Given the description of an element on the screen output the (x, y) to click on. 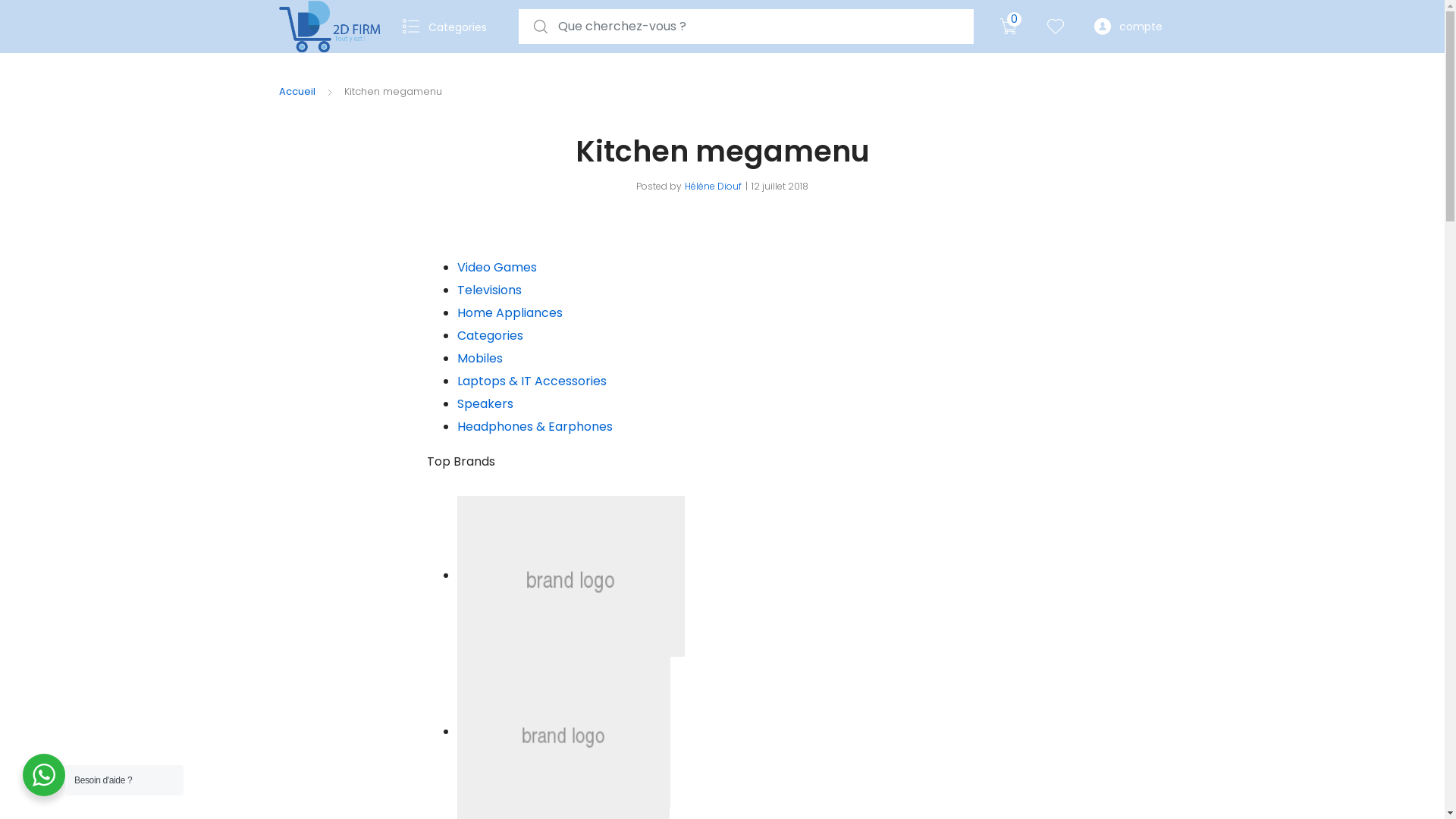
0 Element type: text (1007, 26)
Search Element type: text (10, 12)
Accueil Element type: text (297, 91)
Video Games Element type: text (496, 267)
Headphones & Earphones Element type: text (533, 426)
Televisions Element type: text (488, 289)
Laptops & IT Accessories Element type: text (530, 380)
Home Appliances Element type: text (508, 312)
compte Element type: text (1127, 26)
Search Element type: text (21, 12)
Categories Element type: text (448, 26)
Categories Element type: text (489, 335)
Mobiles Element type: text (479, 358)
12 juillet 2018 Element type: text (779, 185)
Speakers Element type: text (484, 403)
